Given the description of an element on the screen output the (x, y) to click on. 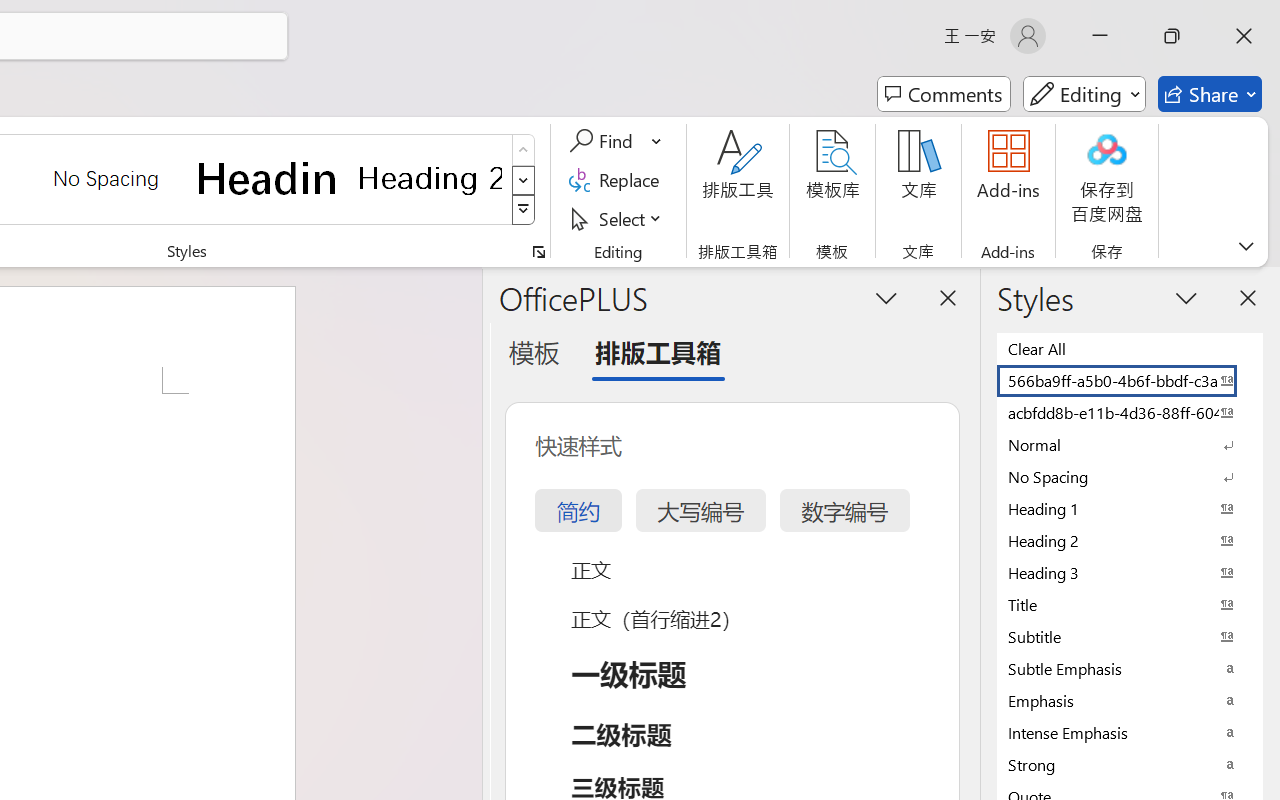
Strong (1130, 764)
Intense Emphasis (1130, 732)
